Given the description of an element on the screen output the (x, y) to click on. 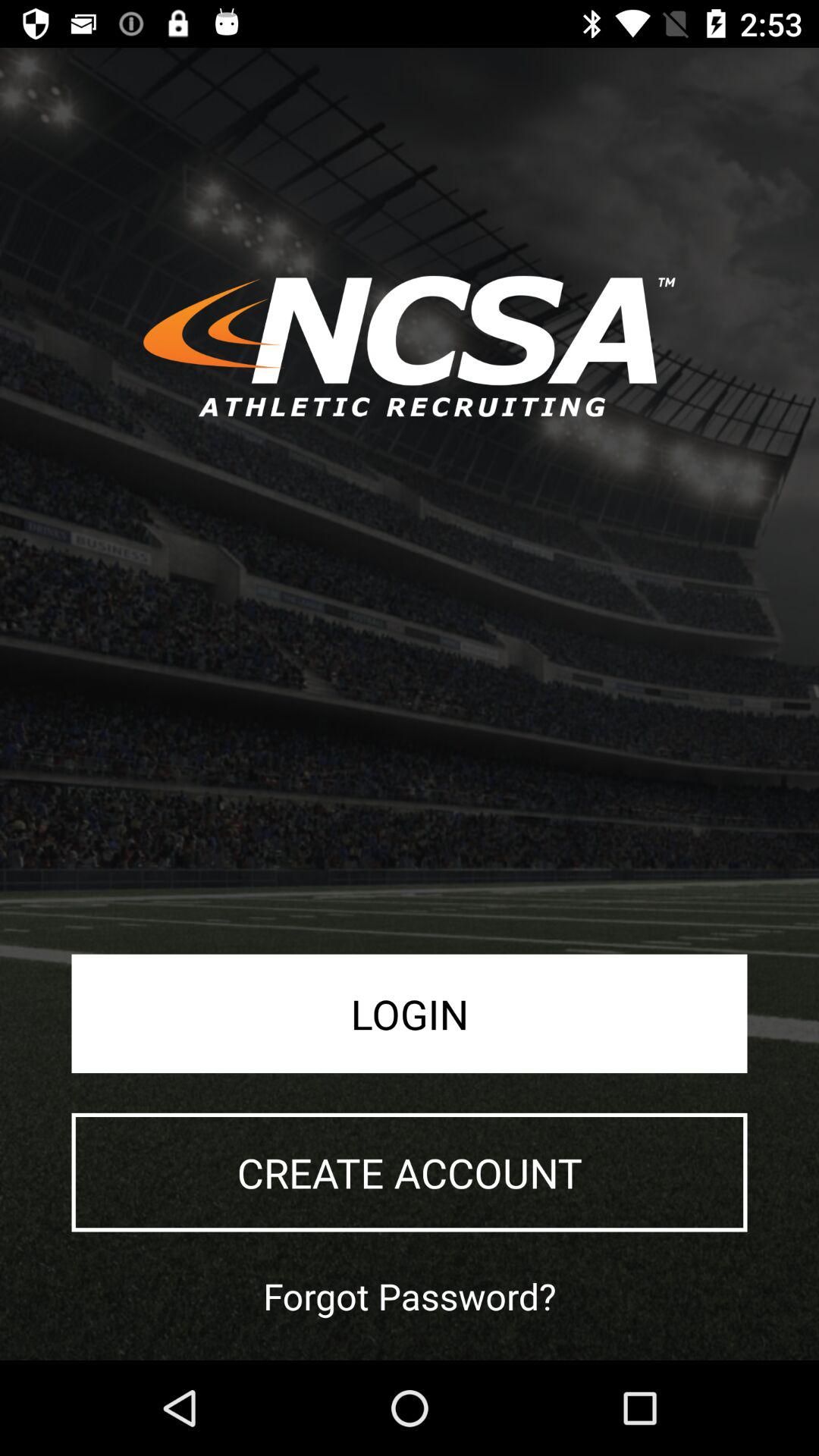
turn on icon above create account app (409, 1013)
